Given the description of an element on the screen output the (x, y) to click on. 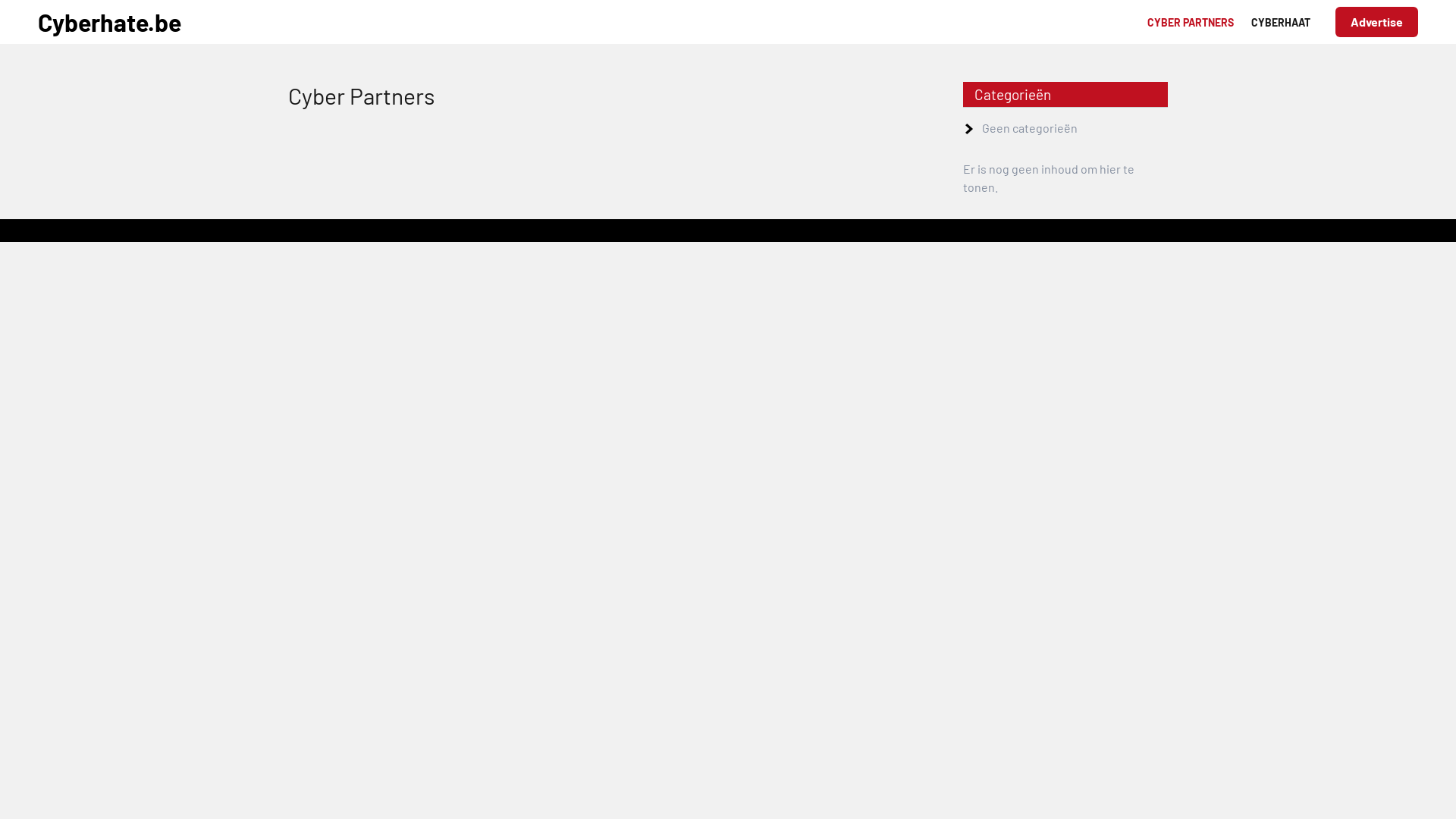
CYBER PARTNERS Element type: text (1190, 21)
Cyberhate.be Element type: text (109, 21)
CYBERHAAT Element type: text (1280, 21)
Advertise Element type: text (1376, 21)
